Given the description of an element on the screen output the (x, y) to click on. 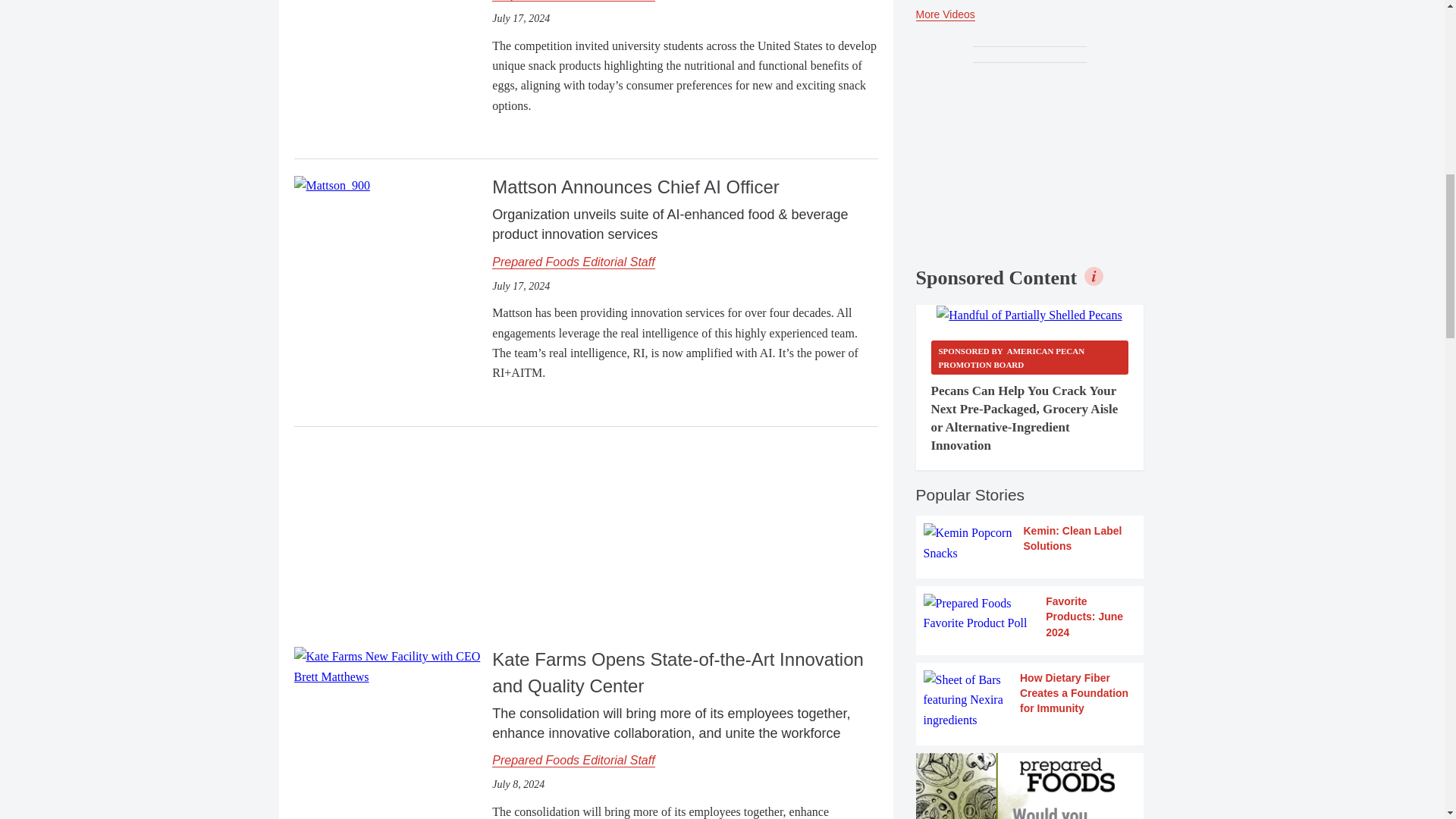
Mattson Announces Chief AI Officer (331, 183)
Kate Farms New Facility with CEO Brett Matthews  (387, 667)
